Given the description of an element on the screen output the (x, y) to click on. 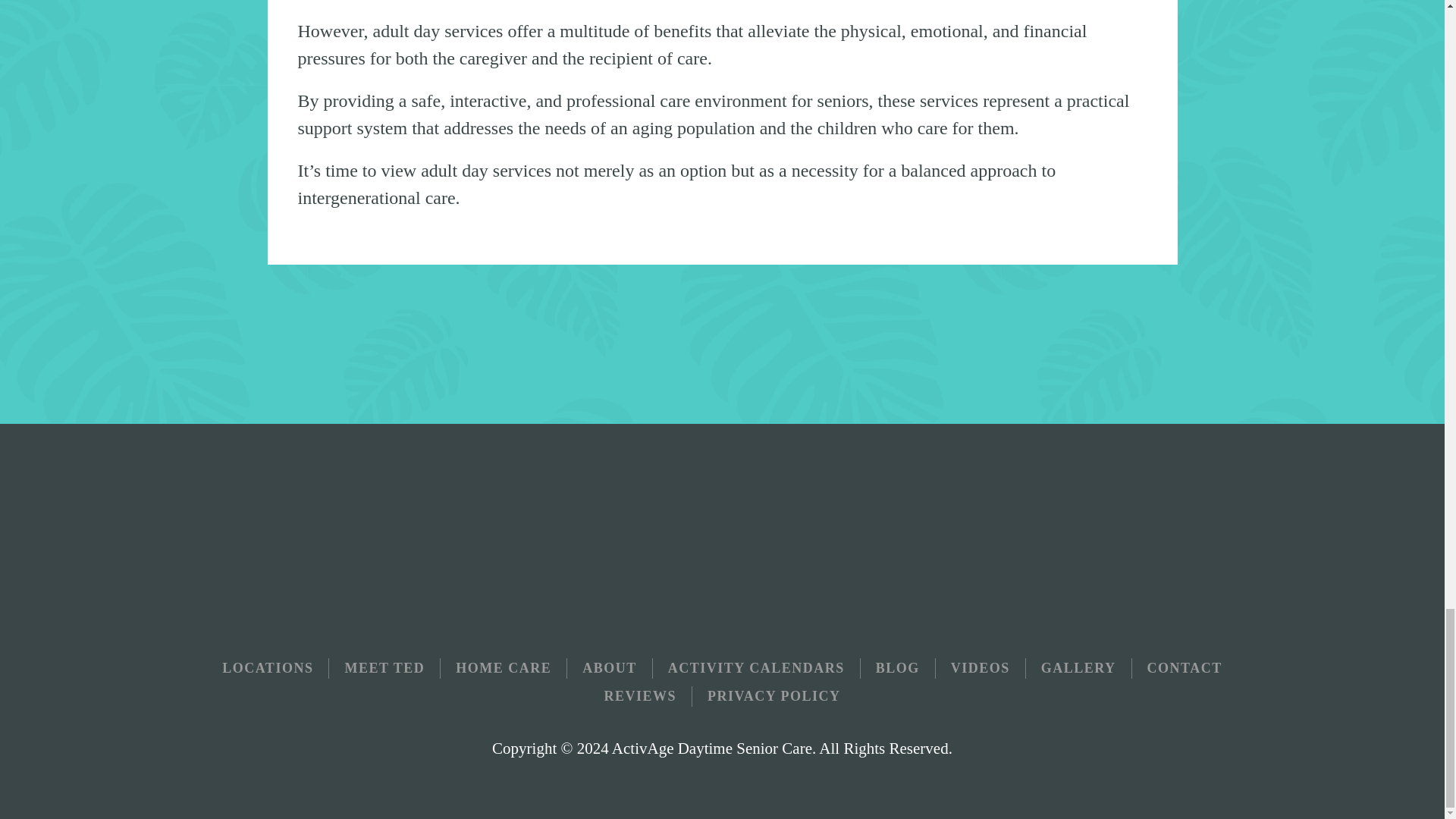
BLOG (898, 668)
GALLERY (1078, 668)
MEET TED (384, 668)
PRIVACY POLICY (774, 696)
HOME CARE (503, 668)
CONTACT (1185, 668)
LOCATIONS (267, 668)
ABOUT (609, 668)
REVIEWS (640, 696)
ACTIVITY CALENDARS (756, 668)
